Given the description of an element on the screen output the (x, y) to click on. 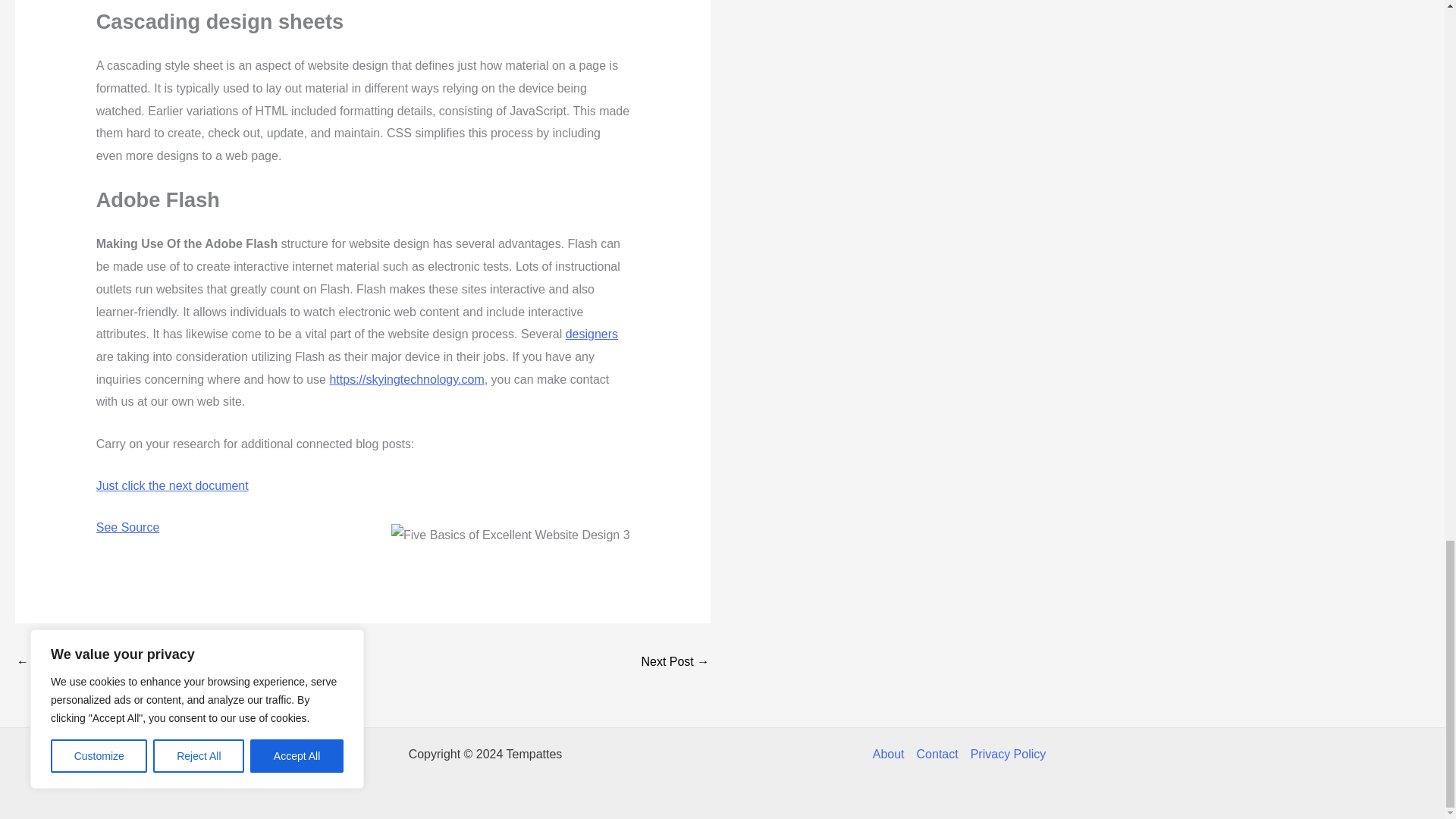
Artificial Intelligence - Giving Machines Reason (674, 663)
See Source (128, 526)
Wealth Management Advisors (61, 663)
Just click the next document (172, 485)
designers (591, 333)
